Given the description of an element on the screen output the (x, y) to click on. 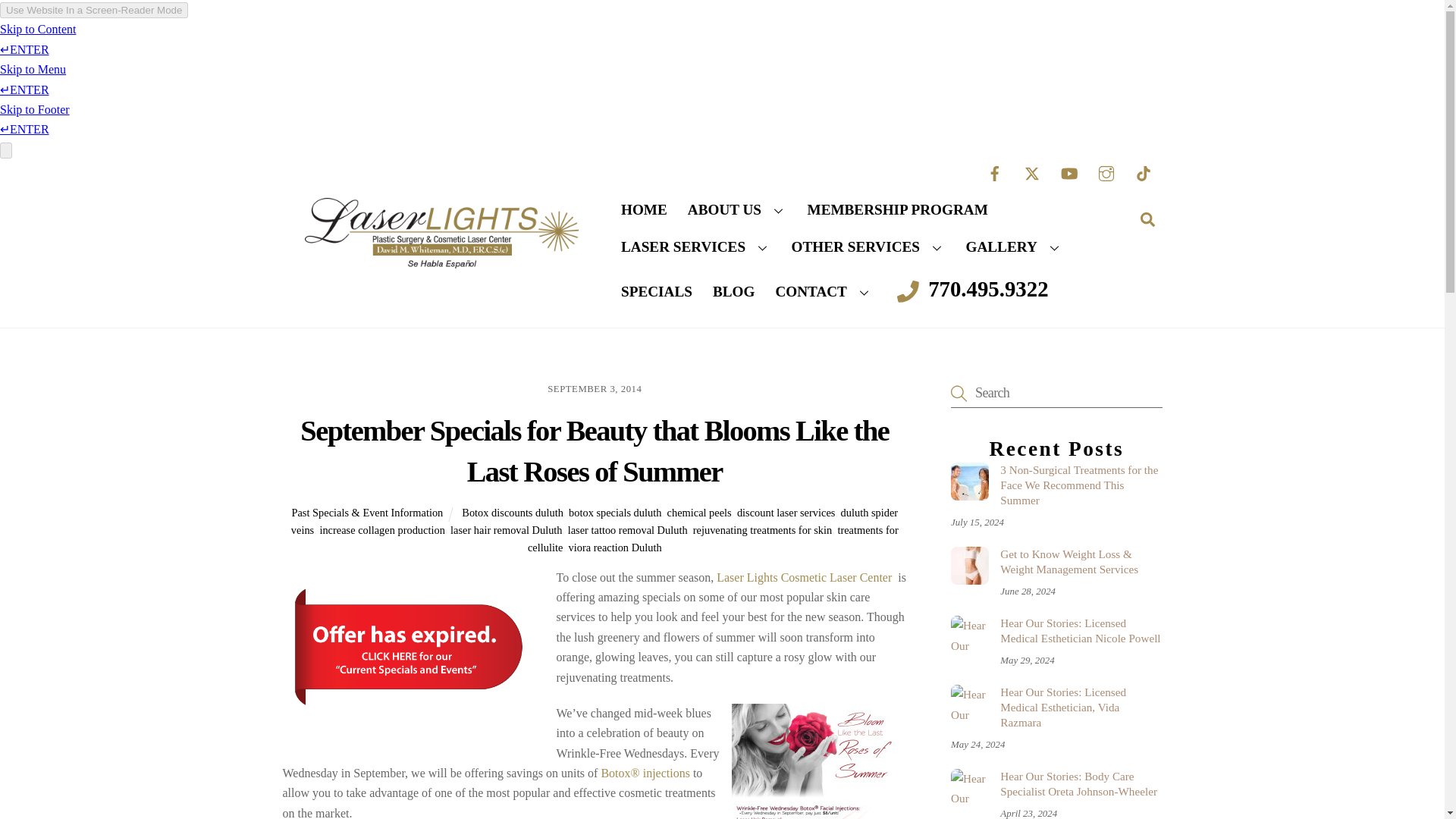
Hear Our Stories: Body Care Specialist Oreta Johnson-Wheeler (969, 787)
Search (1055, 393)
Laser Lights Cosmetic Laser Center (440, 264)
LASER SERVICES (696, 247)
MEMBERSHIP PROGRAM (896, 209)
Search (1146, 218)
Hear Our Stories: Licensed Medical Esthetician Nicole Powell (969, 634)
Hear Our Stories: Licensed Medical Esthetician, Vida Razmara (969, 703)
HOME (644, 209)
OTHER SERVICES (868, 247)
ABOUT US (736, 209)
Call Us (972, 290)
